Given the description of an element on the screen output the (x, y) to click on. 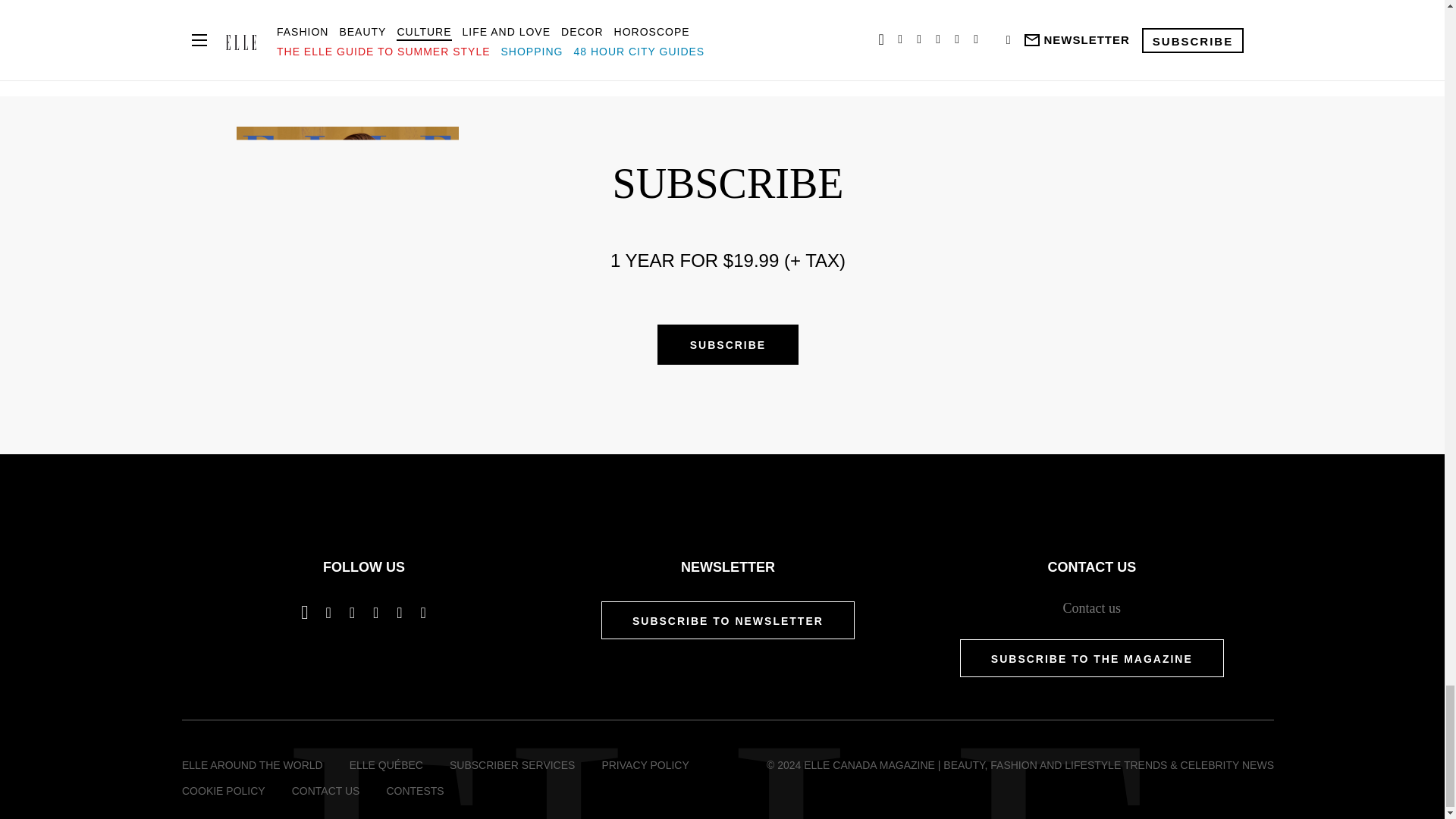
Contact us (1091, 607)
SUBSCRIBE TO THE MAGAZINE (1091, 658)
SUBSCRIBE TO NEWSLETTER (727, 620)
SUBSCRIBE (727, 344)
